Given the description of an element on the screen output the (x, y) to click on. 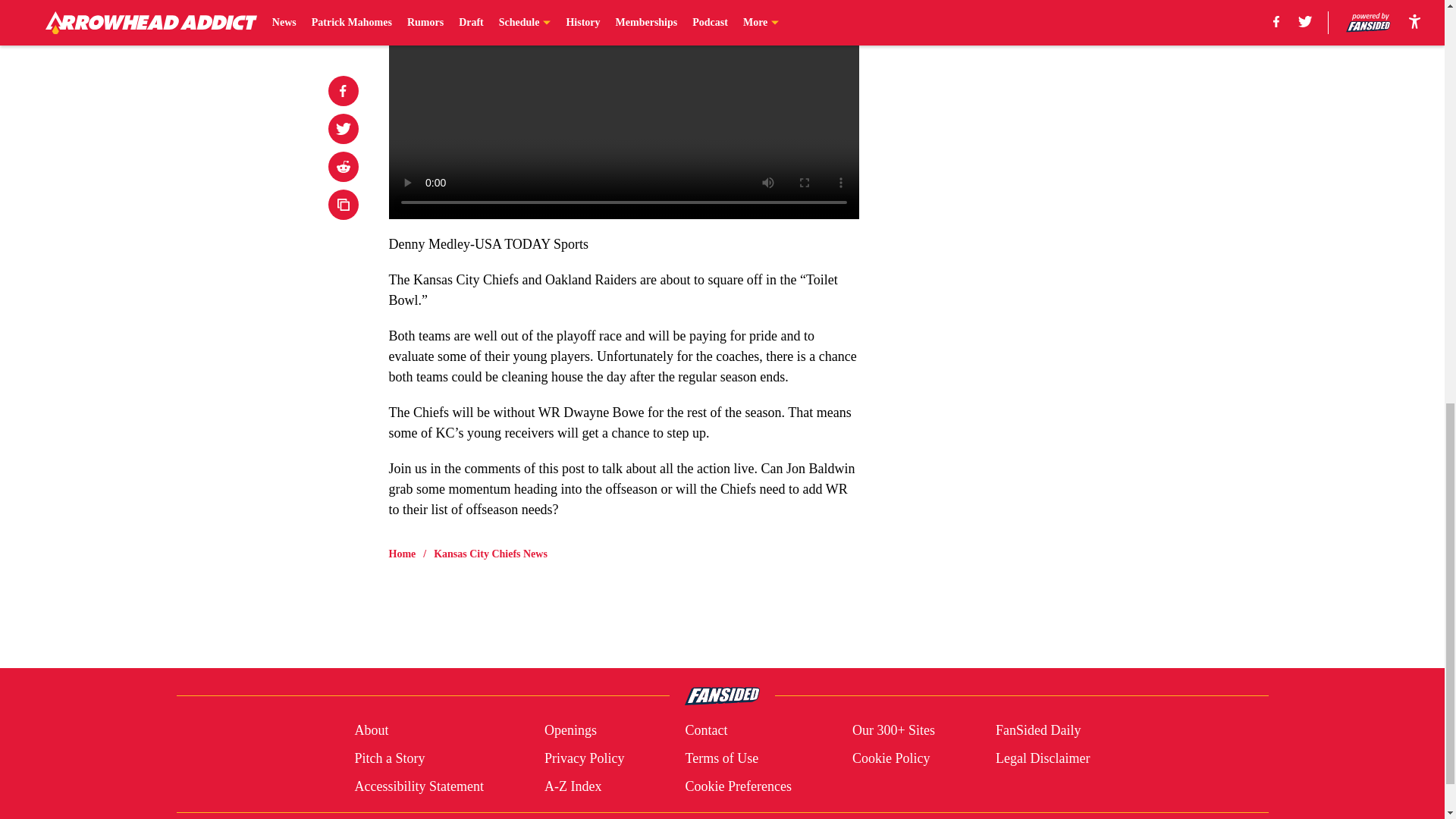
Home (401, 554)
Kansas City Chiefs News (490, 554)
Contact (705, 730)
FanSided Daily (1038, 730)
Terms of Use (721, 758)
Openings (570, 730)
About (370, 730)
Pitch a Story (389, 758)
Privacy Policy (584, 758)
